Given the description of an element on the screen output the (x, y) to click on. 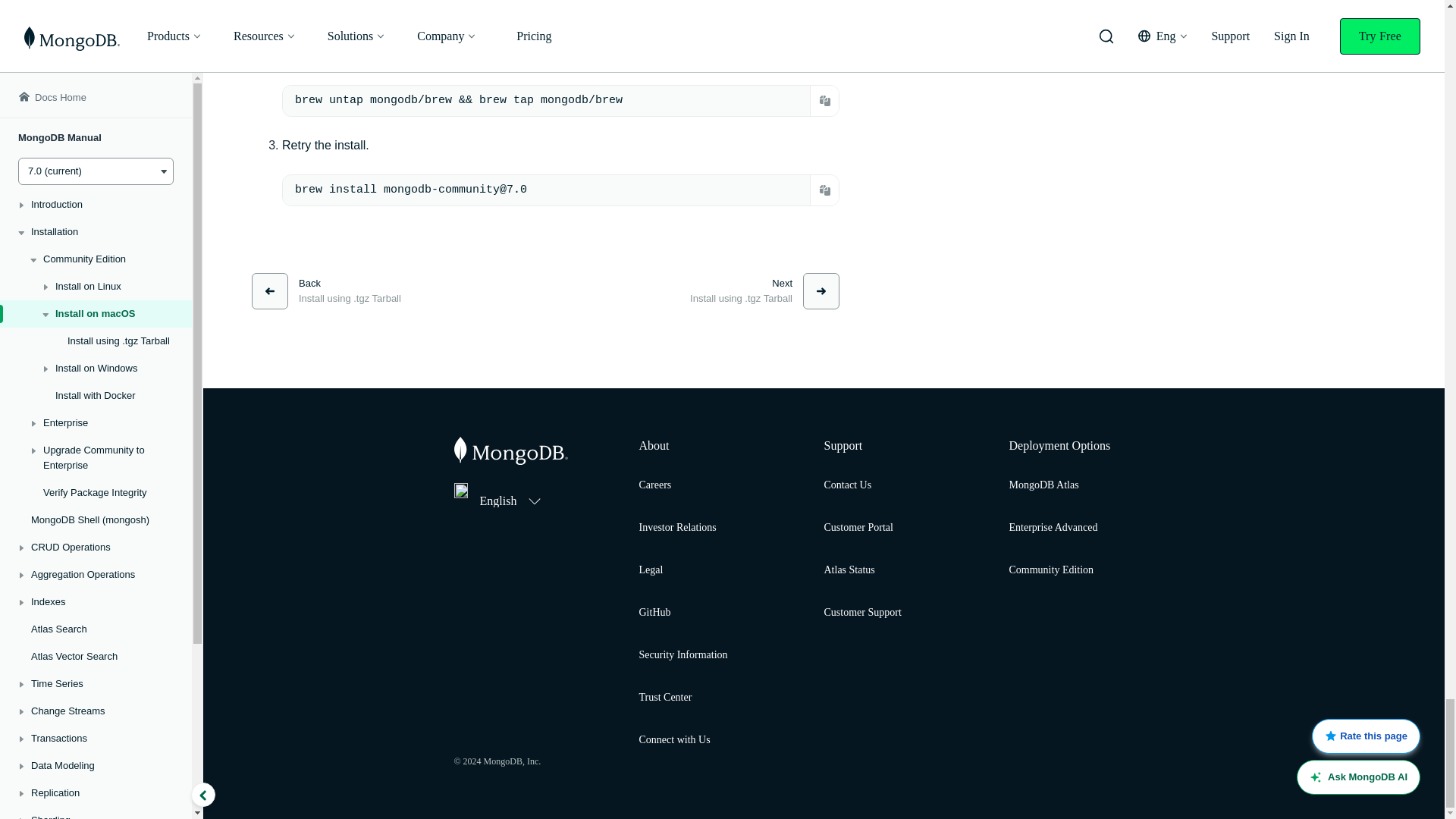
Previous Section (326, 290)
Next Section (765, 290)
